Given the description of an element on the screen output the (x, y) to click on. 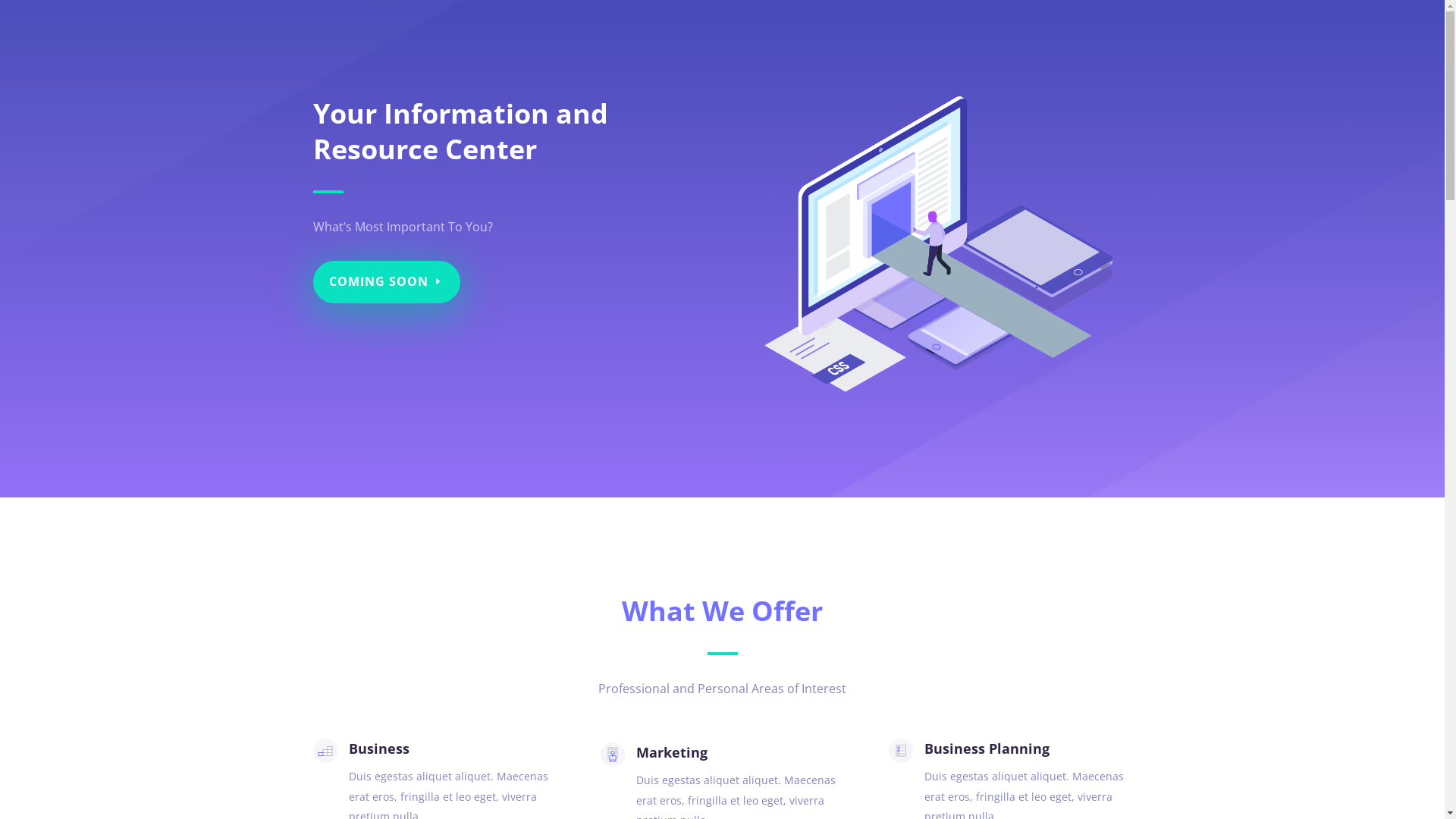
Business Planning Element type: text (986, 748)
COMING SOON Element type: text (385, 282)
Marketing Element type: text (671, 752)
Business Element type: text (378, 748)
